Given the description of an element on the screen output the (x, y) to click on. 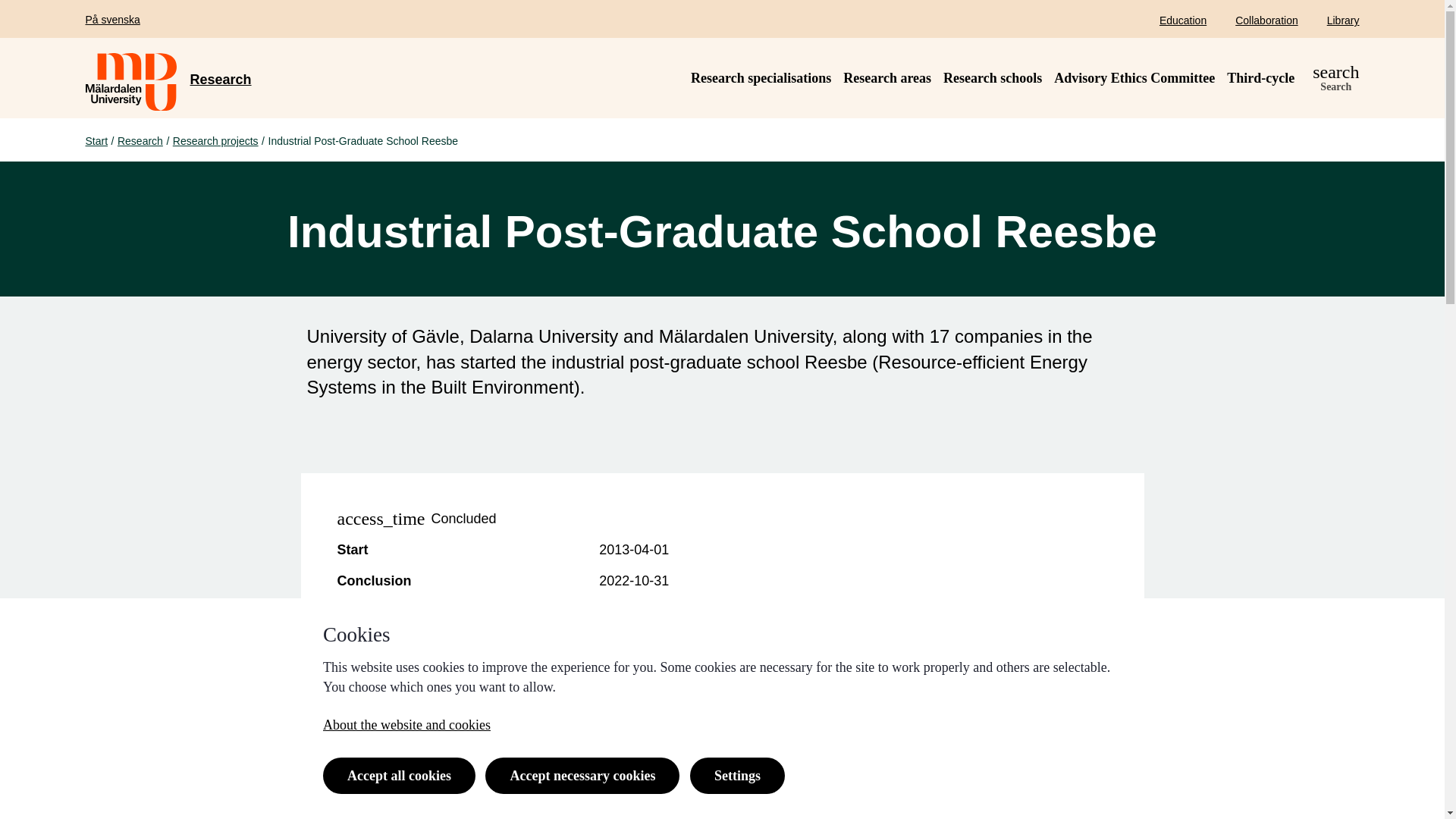
Library (1342, 20)
Start (95, 141)
Third-cycle (1260, 77)
Research areas (887, 77)
Research schools (1335, 78)
Research (992, 77)
Accept necessary cookies (140, 141)
Research projects (581, 774)
The Knowledge Foundation (216, 141)
Advisory Ethics Committee (687, 611)
Research (1134, 77)
Collaboration (219, 79)
Education (614, 643)
